Given the description of an element on the screen output the (x, y) to click on. 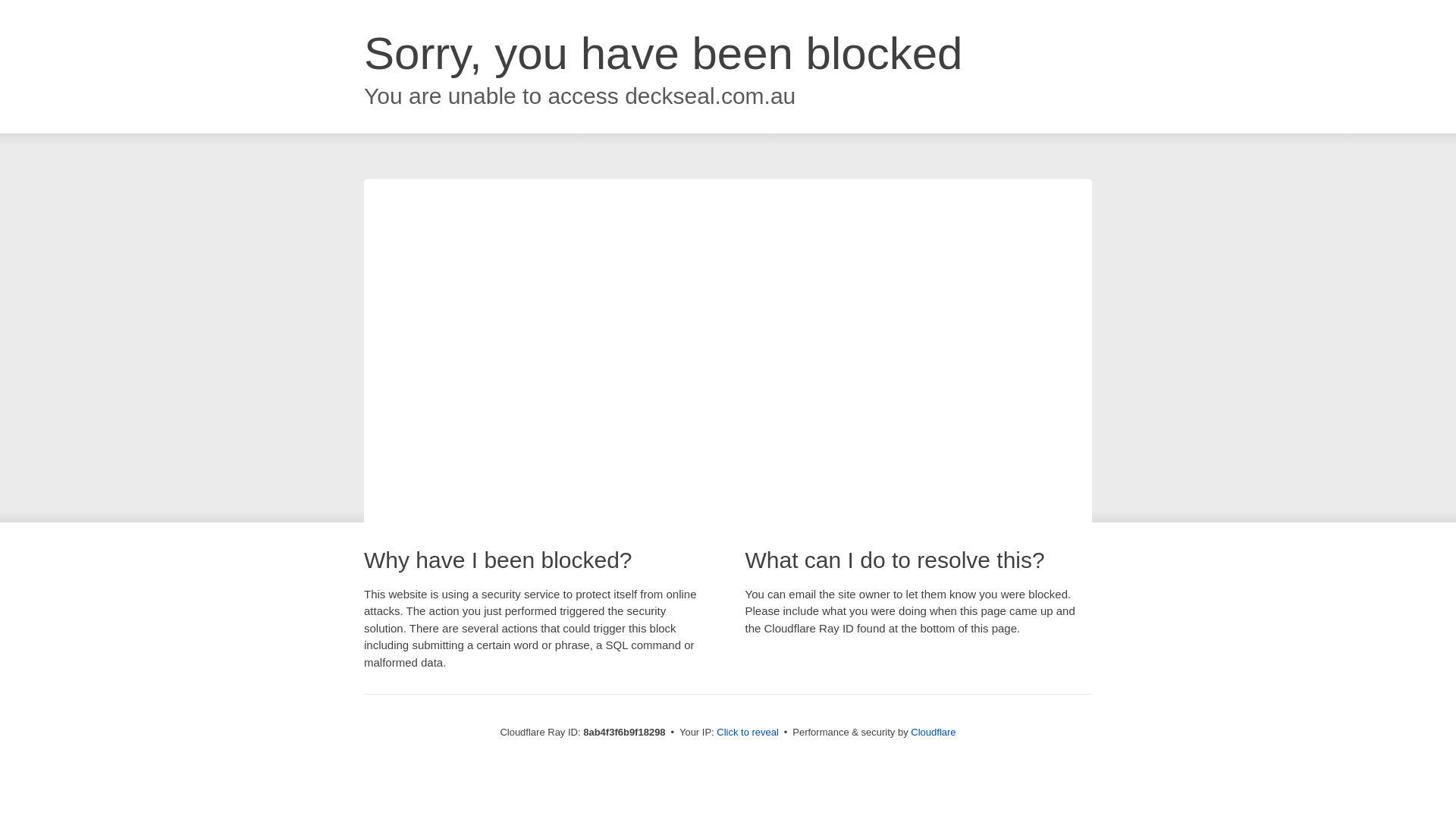
Click to reveal (747, 732)
Cloudflare (933, 731)
